Given the description of an element on the screen output the (x, y) to click on. 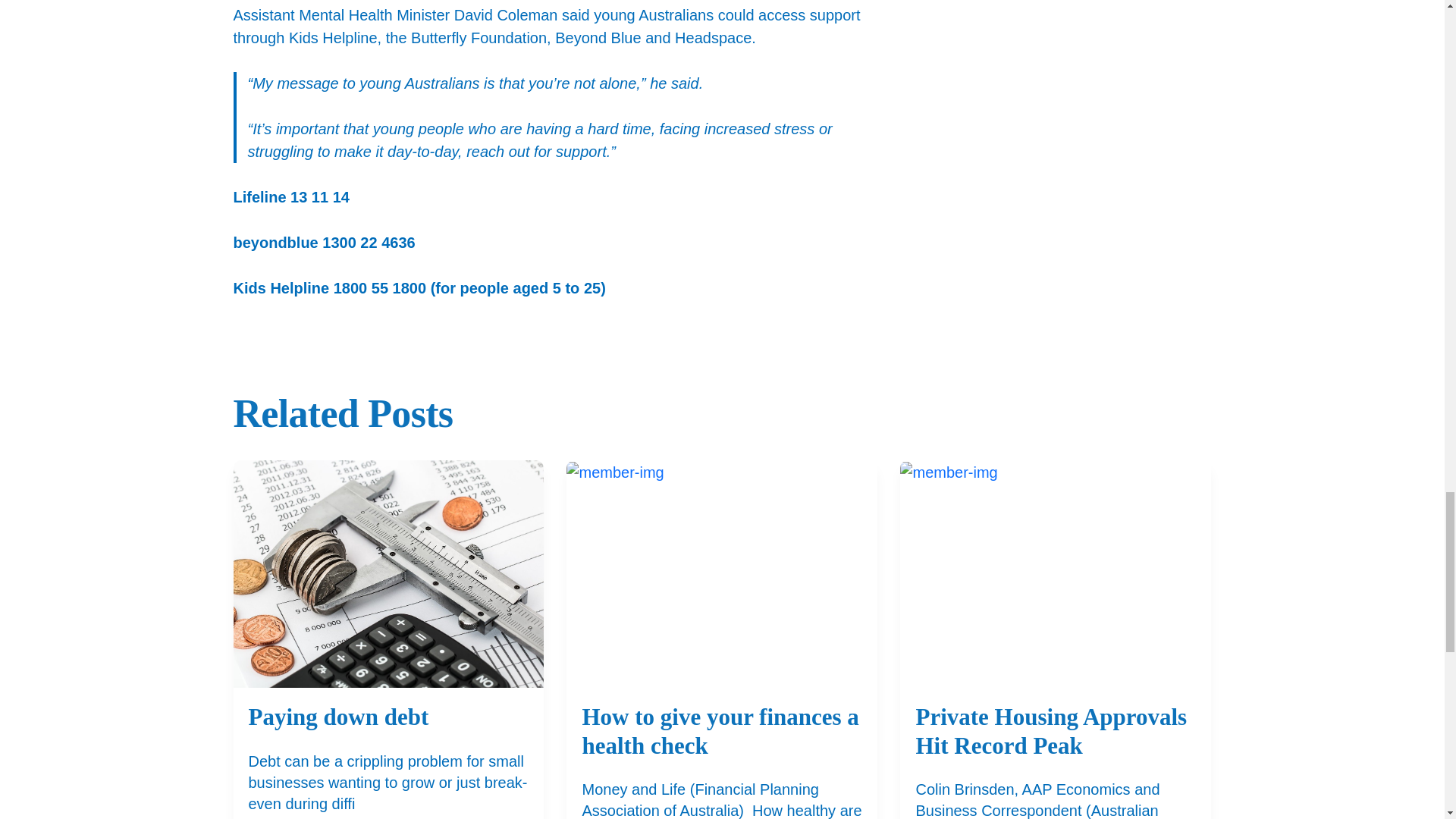
How to give your finances a health check (720, 748)
Private Housing Approvals Hit Record Peak (1055, 748)
Paying down debt (338, 719)
